Given the description of an element on the screen output the (x, y) to click on. 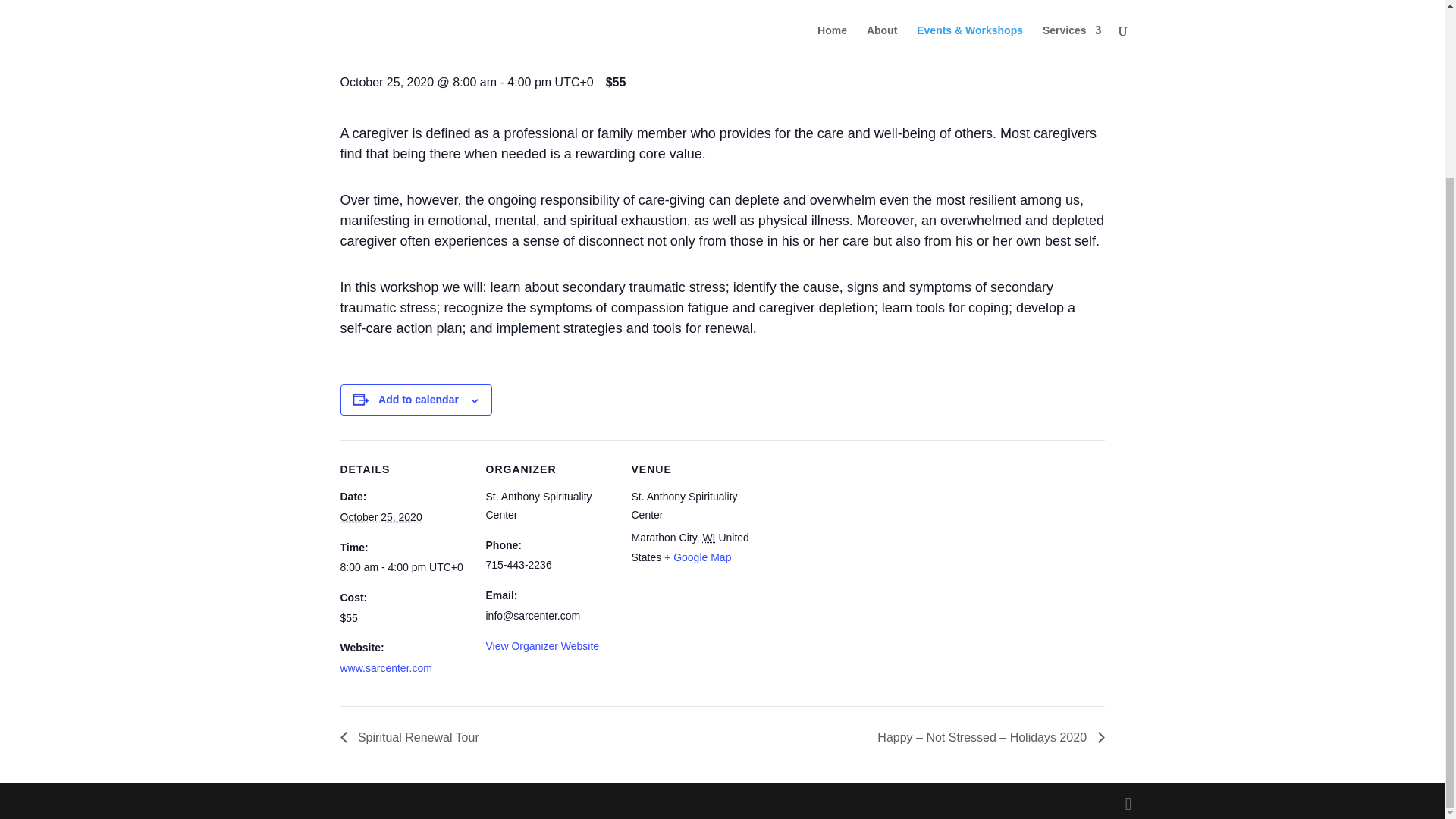
Wisconsin (707, 537)
Add to calendar (418, 399)
Spiritual Renewal Tour (412, 737)
View Organizer Website (541, 645)
2020-10-25 (403, 567)
Click to view a Google Map (696, 557)
2020-10-25 (380, 517)
www.sarcenter.com (384, 667)
